Given the description of an element on the screen output the (x, y) to click on. 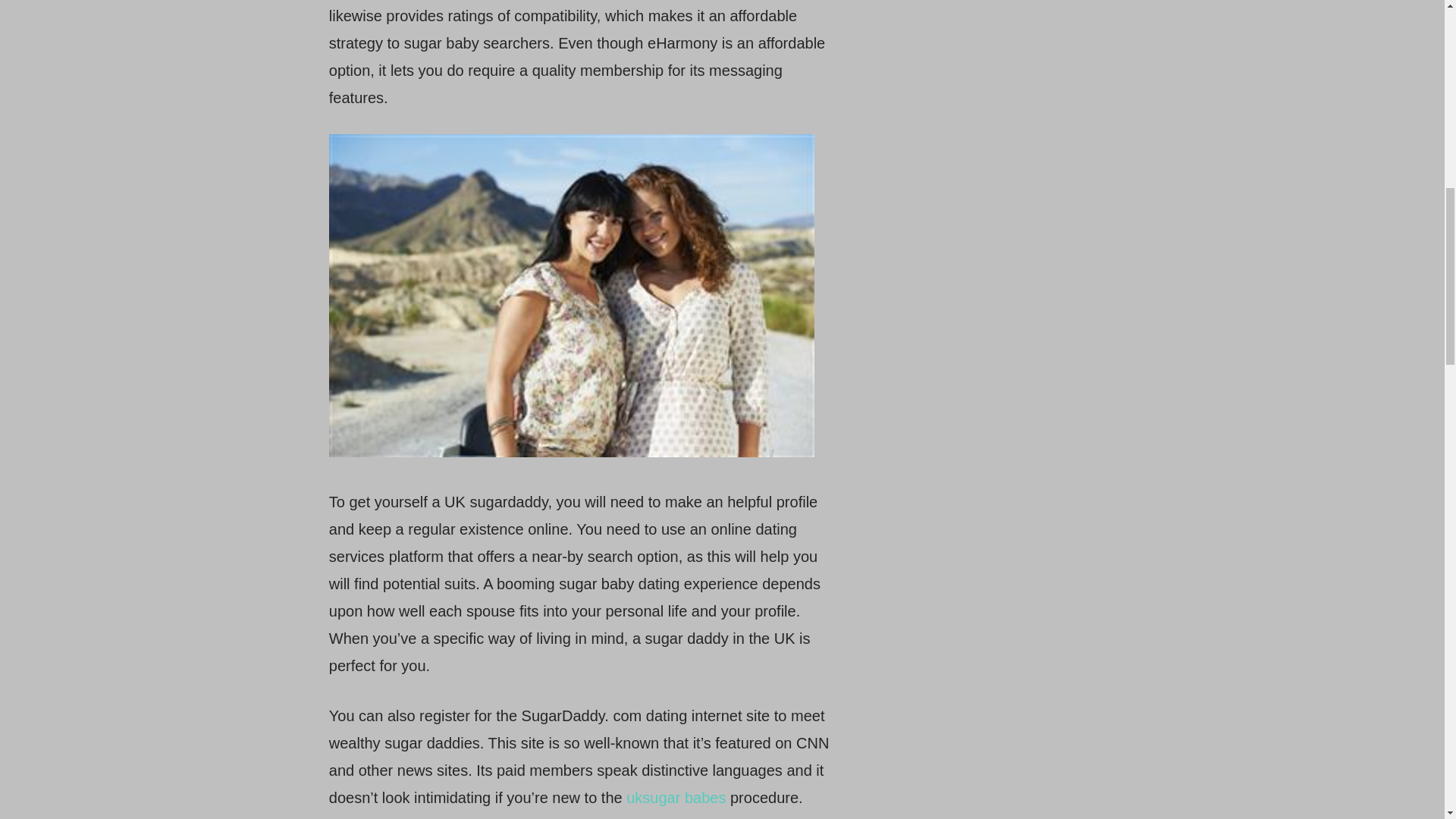
uksugar babes (675, 797)
